Given the description of an element on the screen output the (x, y) to click on. 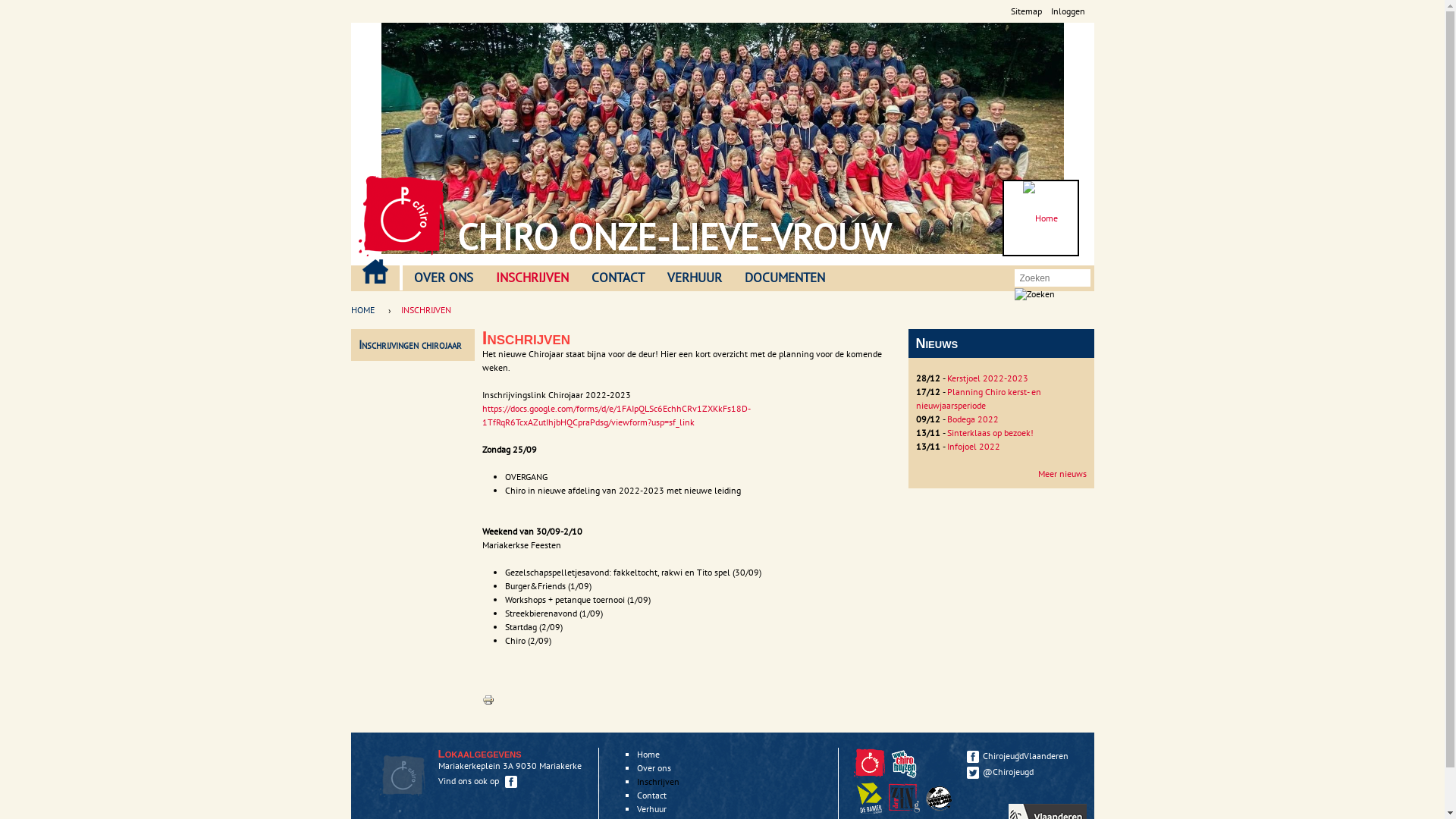
Inschrijven Element type: text (658, 781)
Home Element type: text (648, 753)
Jump to navigation Element type: text (722, 2)
Twitter Element type: hover (972, 772)
Over ons Element type: text (654, 767)
CHIRO ONZE-LIEVE-VROUW Element type: text (673, 236)
Home Element type: hover (1040, 217)
Afdrukbare versie Element type: hover (488, 702)
Kerstjoel 2022-2023 Element type: text (986, 377)
OVER ONS Element type: text (442, 278)
Inloggen Element type: text (1068, 10)
Facebook Element type: hover (972, 756)
Meer nieuws Element type: text (1061, 473)
Bodega 2022 Element type: text (971, 418)
VERHUUR Element type: text (693, 278)
Sinterklaas op bezoek! Element type: text (989, 432)
Sitemap Element type: text (1025, 10)
DOCUMENTEN Element type: text (783, 278)
Infojoel 2022 Element type: text (972, 445)
Verbond Roeland Element type: hover (938, 797)
ChirojeugdVlaanderen Element type: text (1022, 755)
Chirojeugd Vlaanderen Element type: hover (868, 762)
Inschrijvingen chirojaar Element type: text (409, 344)
HOME Element type: text (365, 309)
CONTACT Element type: text (617, 278)
Verhuur Element type: text (651, 808)
Facebook Element type: hover (511, 781)
INSCHRIJVEN Element type: text (531, 278)
Zindering Element type: hover (905, 809)
Chirojeugd Vlaanderen Element type: hover (870, 775)
Contact Element type: text (651, 794)
@Chirojeugd Element type: text (1022, 771)
HOME Element type: text (374, 271)
Planning Chiro kerst- en nieuwjaarsperiode Element type: text (978, 398)
Zindering Element type: hover (940, 809)
Zindering Element type: hover (903, 797)
De Banier Element type: hover (868, 797)
Chirohuizen Element type: hover (903, 762)
Geef de woorden op waarnaar u wilt zoeken. Element type: hover (1043, 277)
Home Element type: hover (401, 215)
De Banier Element type: hover (870, 809)
Chirohuizen Element type: hover (905, 775)
